Given the description of an element on the screen output the (x, y) to click on. 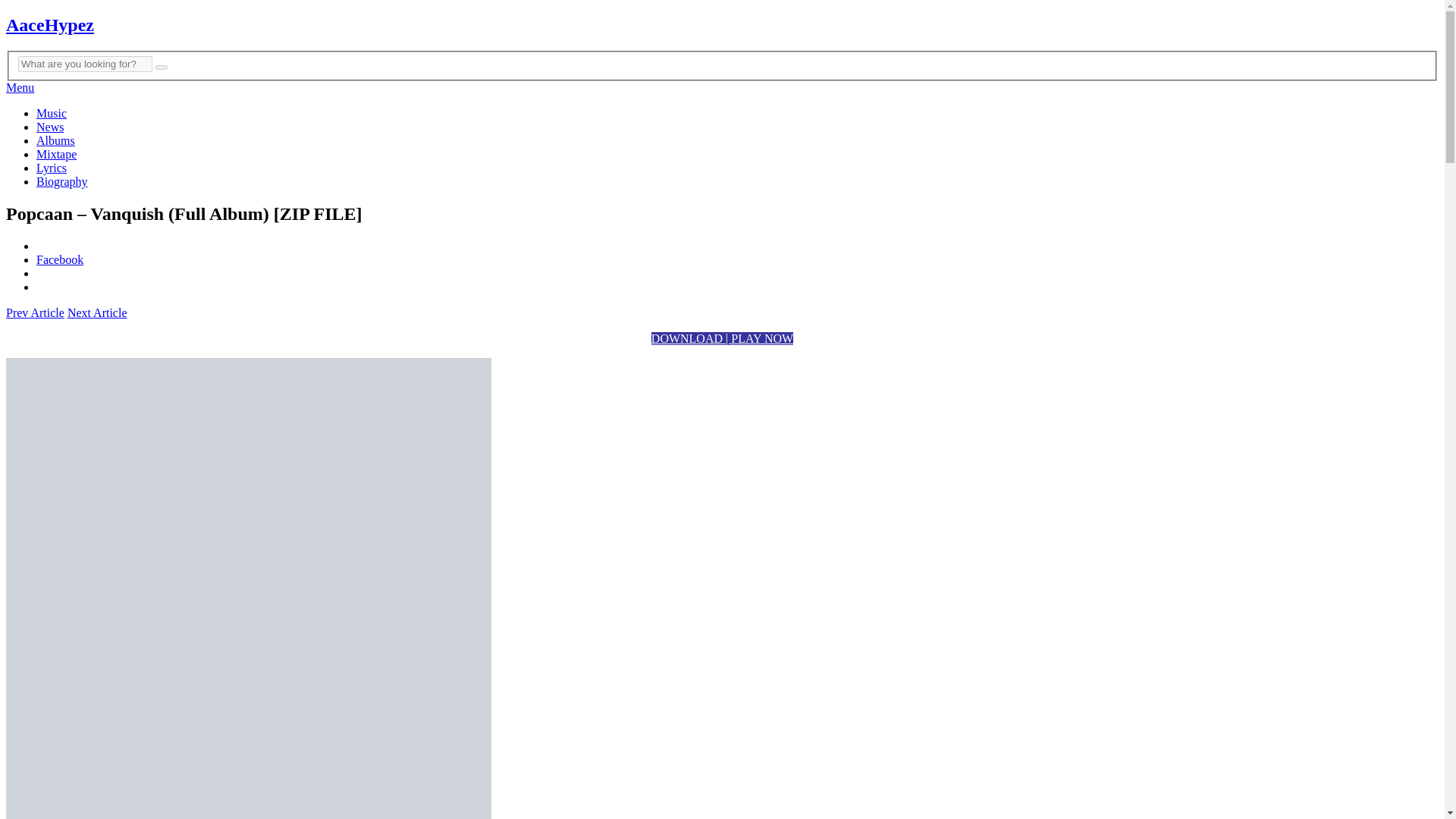
Prev Article (34, 312)
Albums (55, 140)
AaceHypez (49, 25)
Menu (19, 87)
Lyrics (51, 167)
Facebook (59, 259)
Music (51, 113)
Mixtape (56, 154)
News (50, 126)
Biography (61, 181)
